Given the description of an element on the screen output the (x, y) to click on. 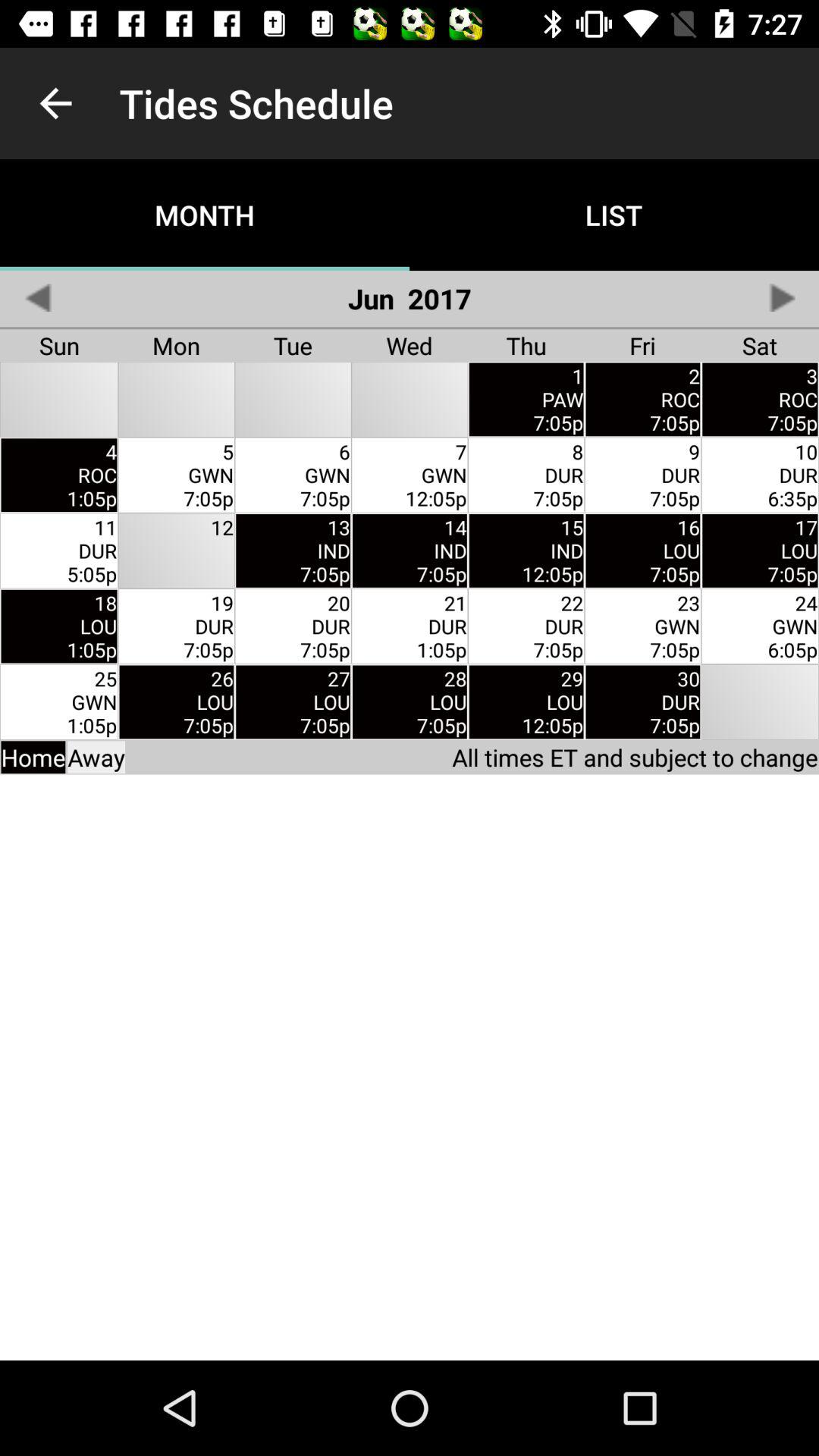
toggle previous month (37, 297)
